Given the description of an element on the screen output the (x, y) to click on. 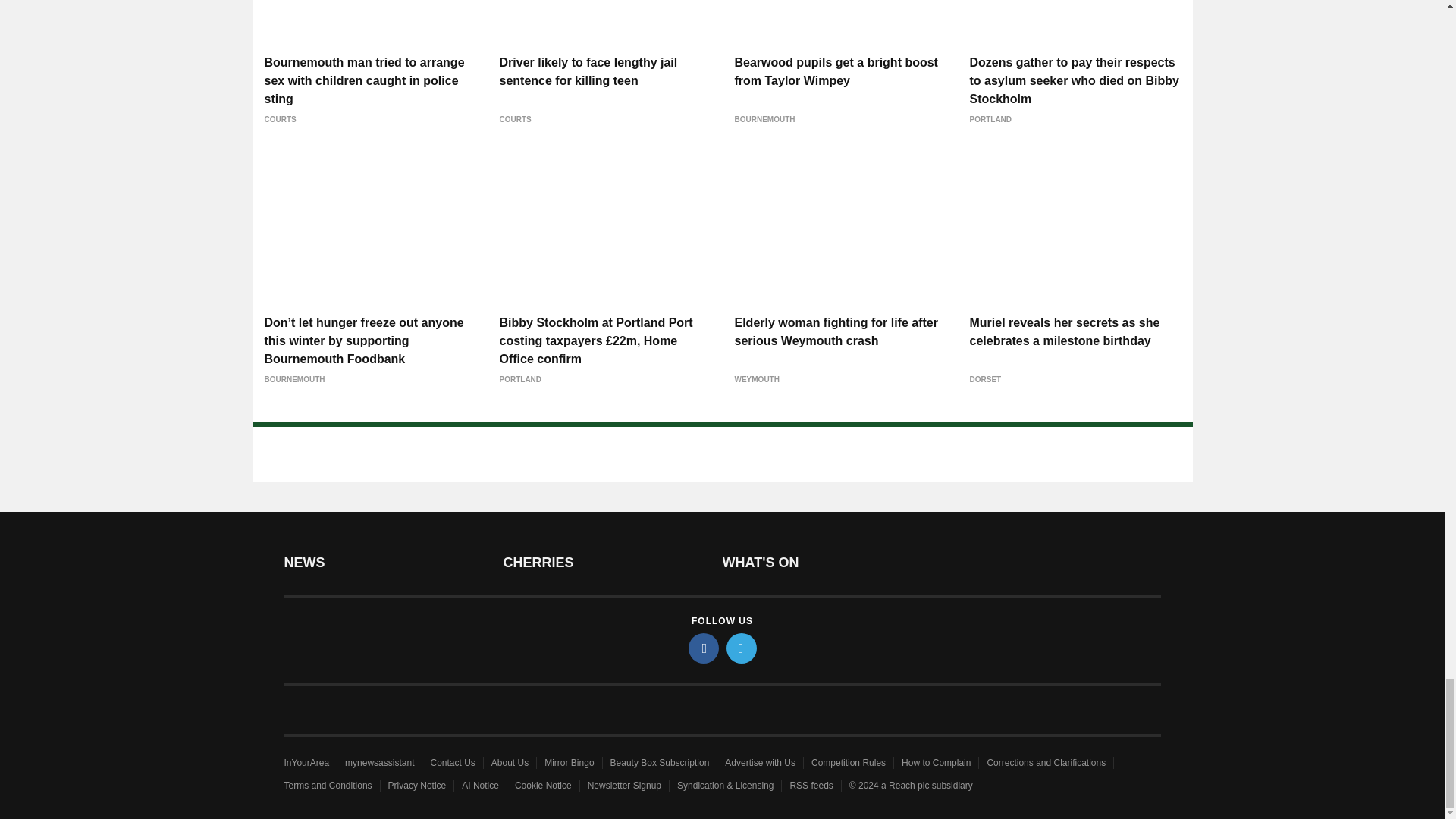
twitter (741, 648)
facebook (703, 648)
